Given the description of an element on the screen output the (x, y) to click on. 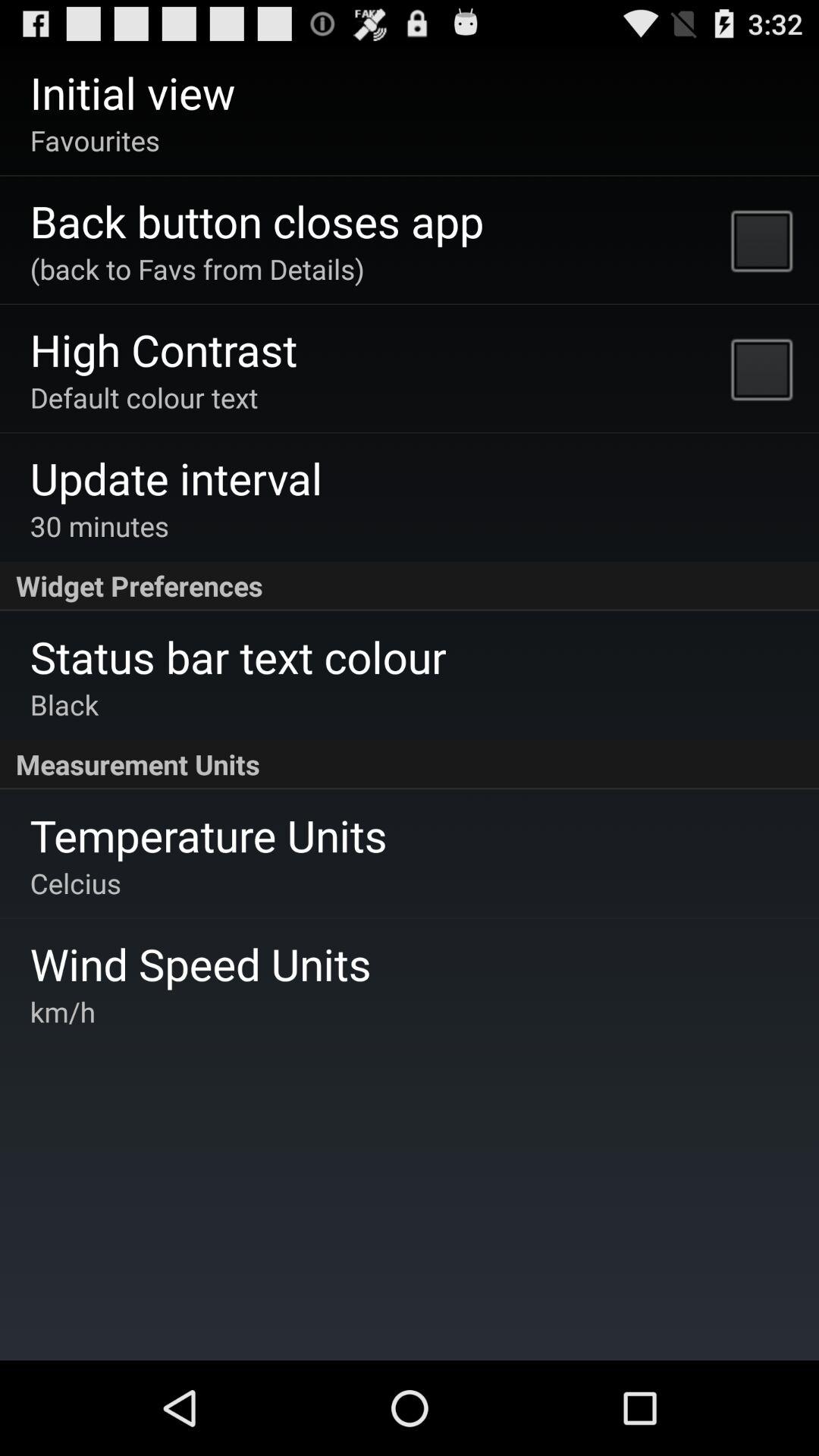
press the app below the widget preferences item (238, 656)
